Given the description of an element on the screen output the (x, y) to click on. 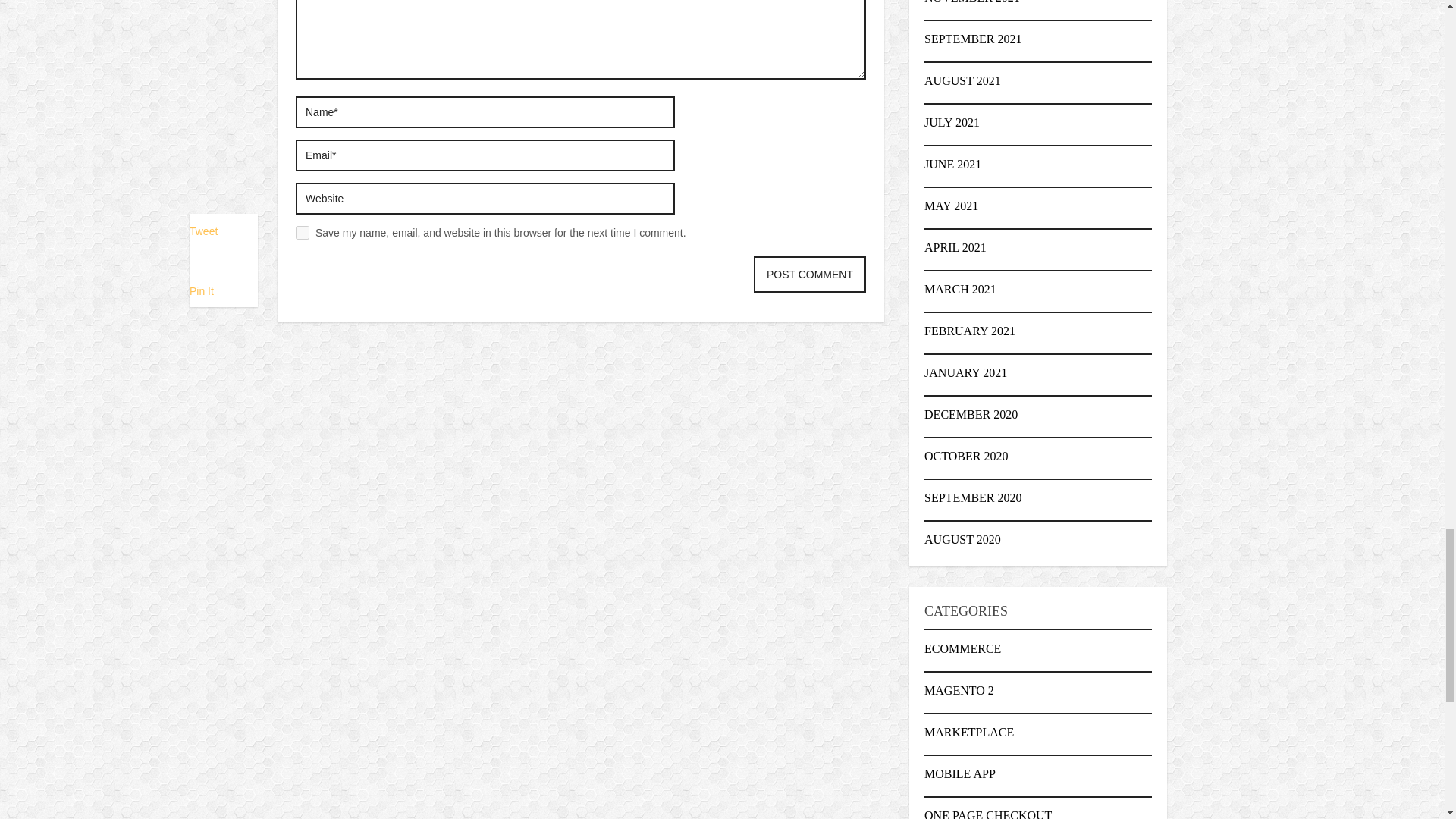
Post Comment (810, 274)
Post Comment (810, 274)
yes (301, 232)
